Given the description of an element on the screen output the (x, y) to click on. 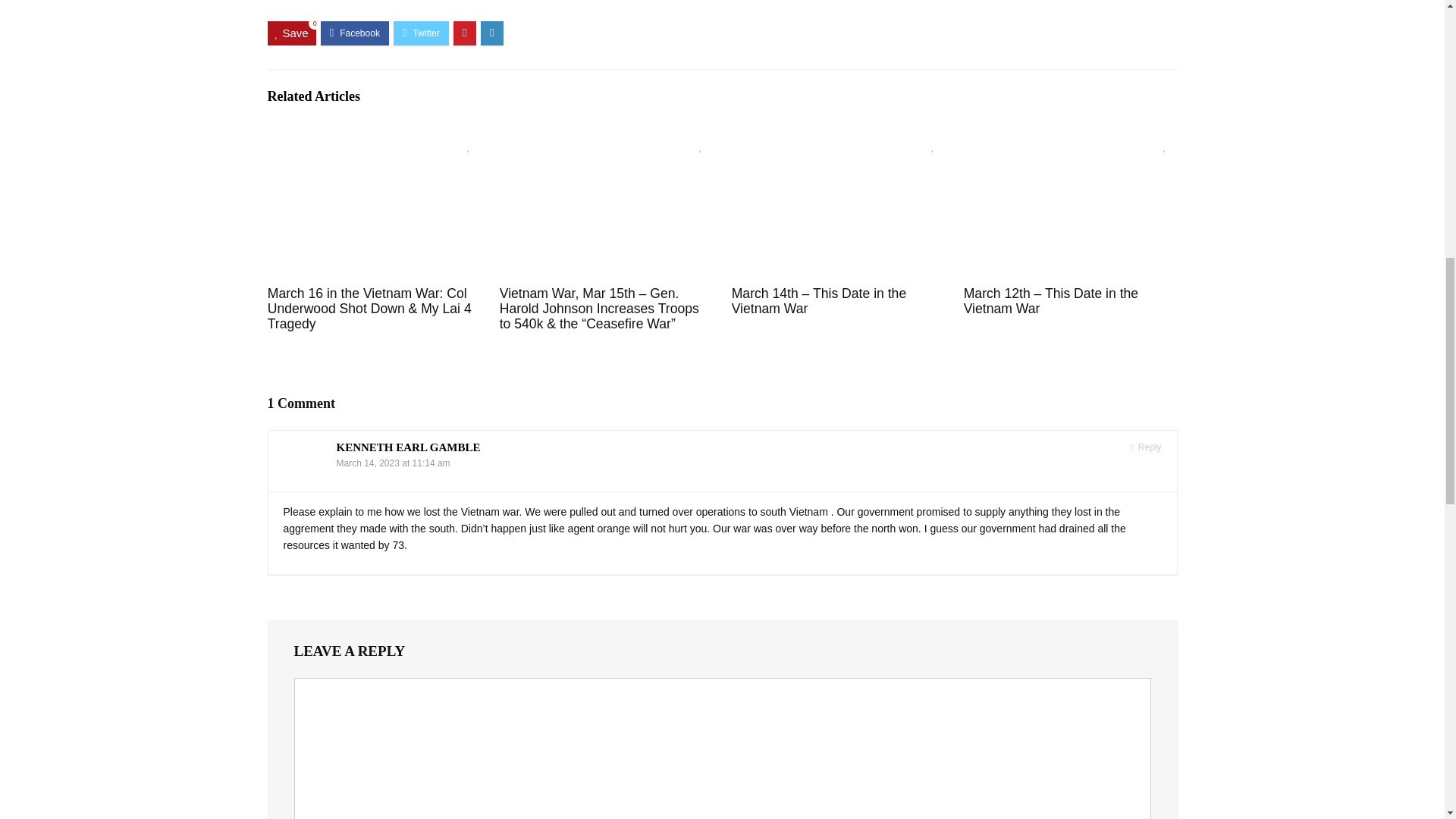
Reply (1145, 447)
March 14, 2023 at 11:14 am (392, 462)
